Given the description of an element on the screen output the (x, y) to click on. 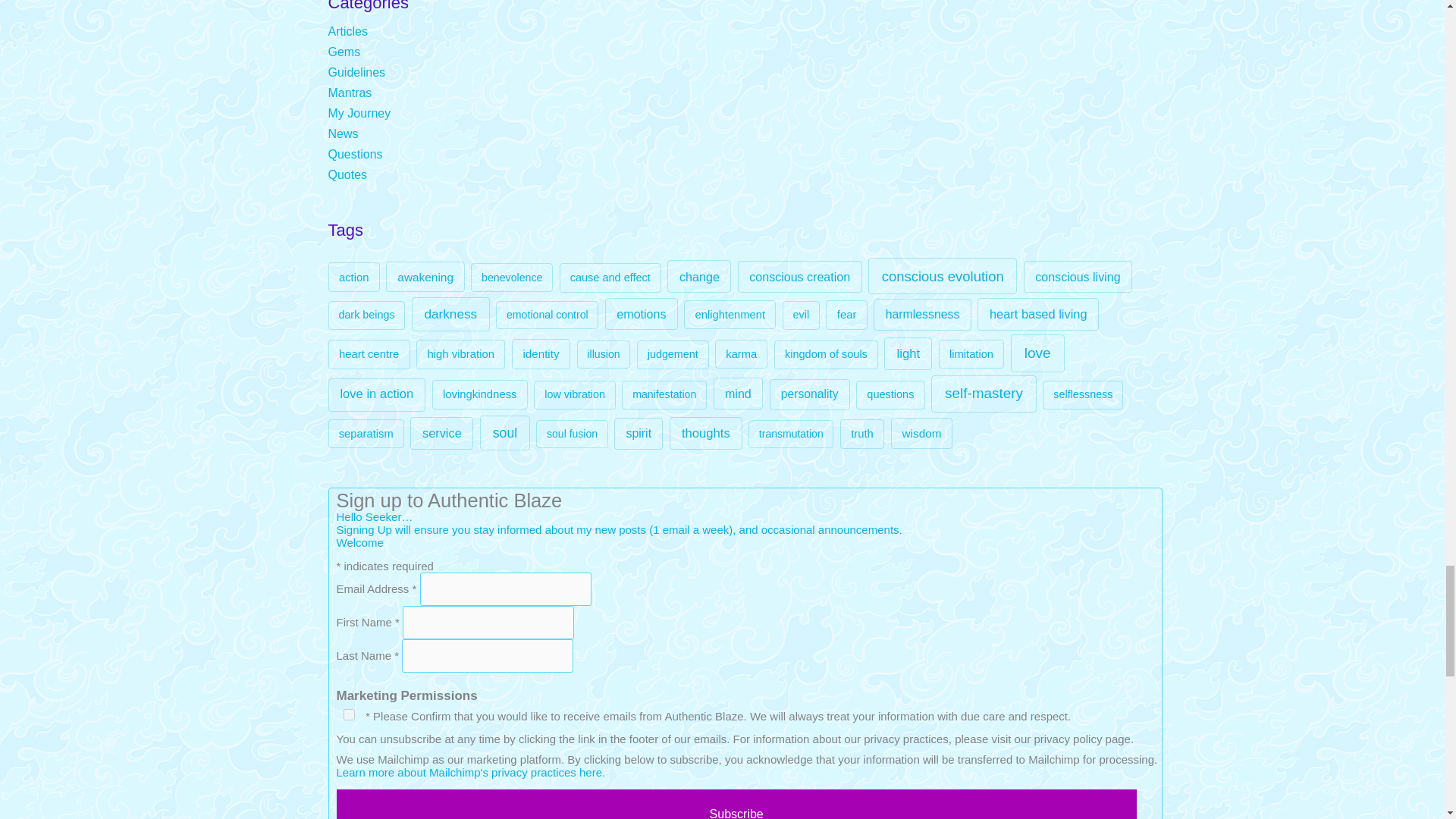
Subscribe (736, 804)
Y (349, 714)
